Given the description of an element on the screen output the (x, y) to click on. 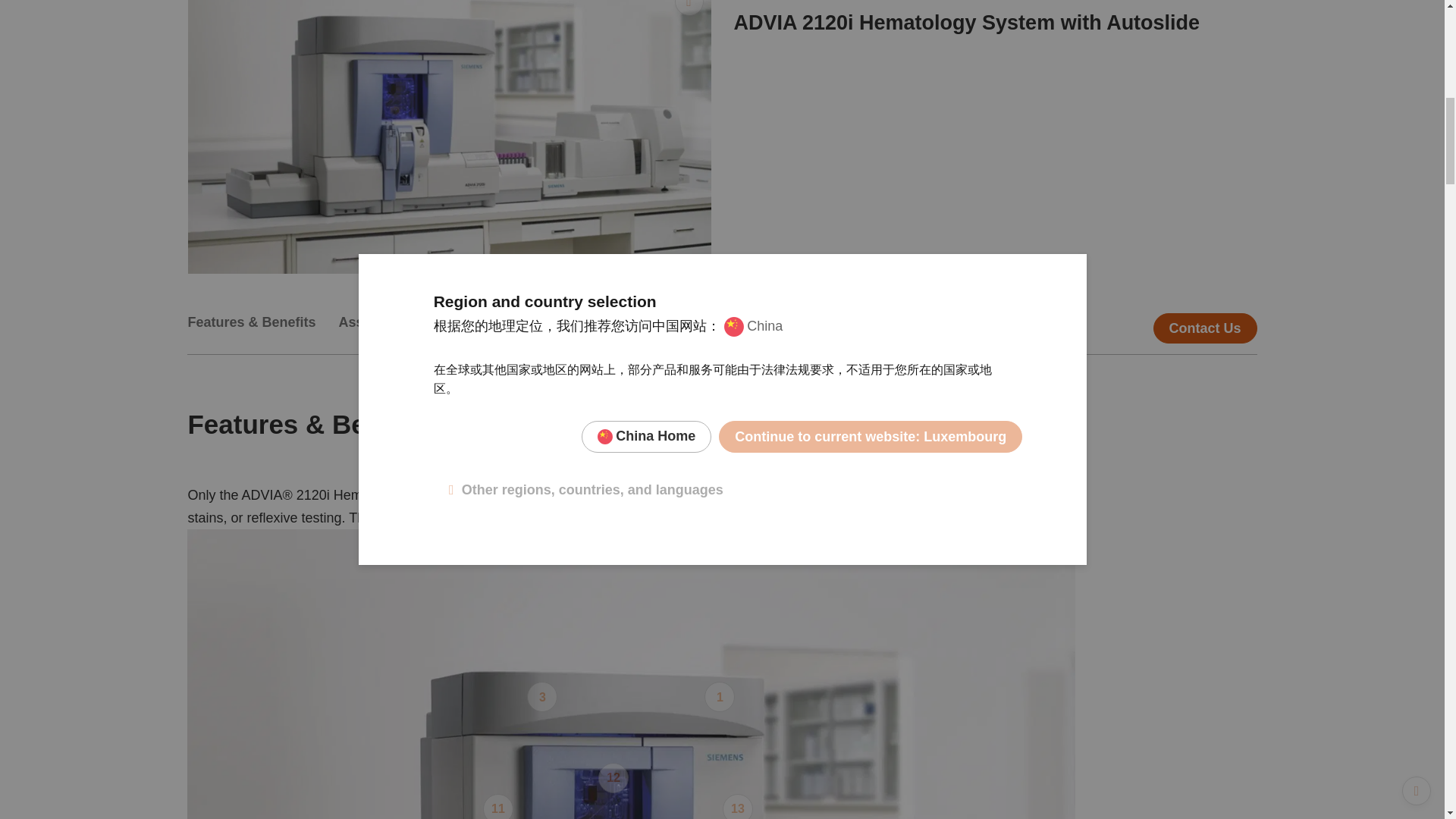
Technical Specifications (500, 328)
Contact Us (1204, 327)
1 (719, 696)
Assays (374, 328)
